Given the description of an element on the screen output the (x, y) to click on. 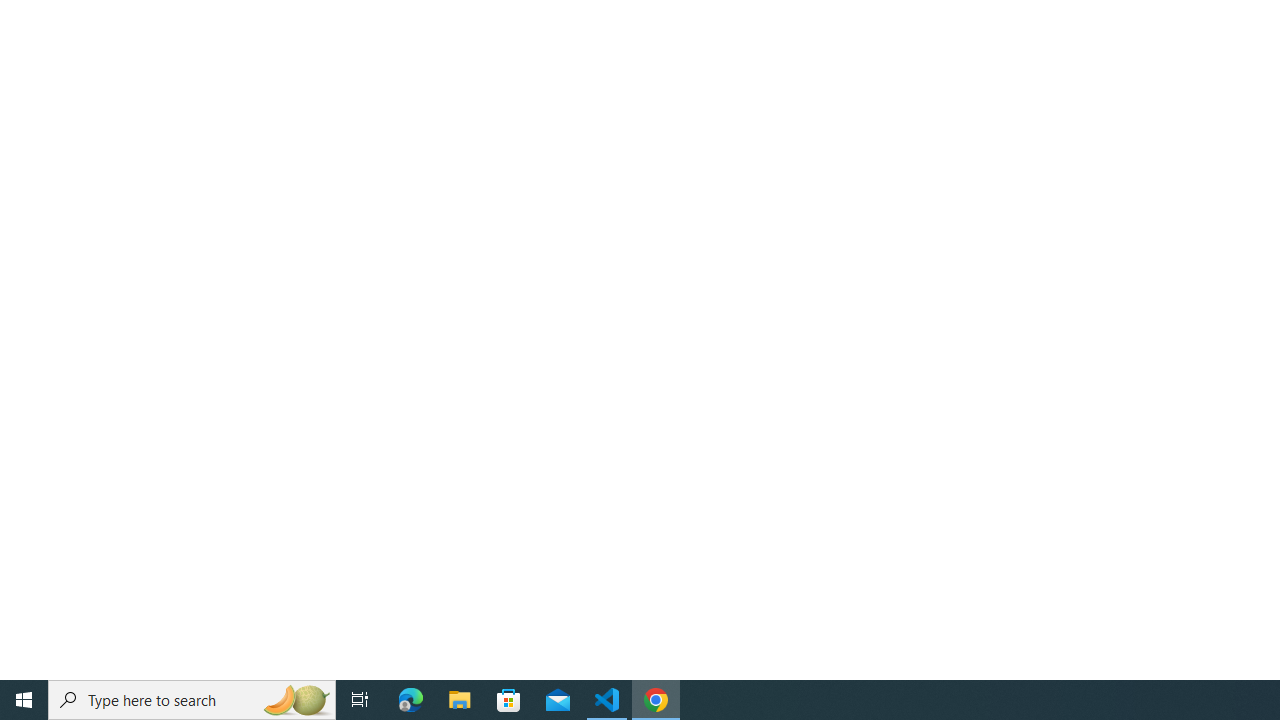
Microsoft Edge (411, 699)
Start (24, 699)
Task View (359, 699)
Google Chrome - 1 running window (656, 699)
Search highlights icon opens search home window (295, 699)
Visual Studio Code - 1 running window (607, 699)
Microsoft Store (509, 699)
File Explorer (460, 699)
Type here to search (191, 699)
